Given the description of an element on the screen output the (x, y) to click on. 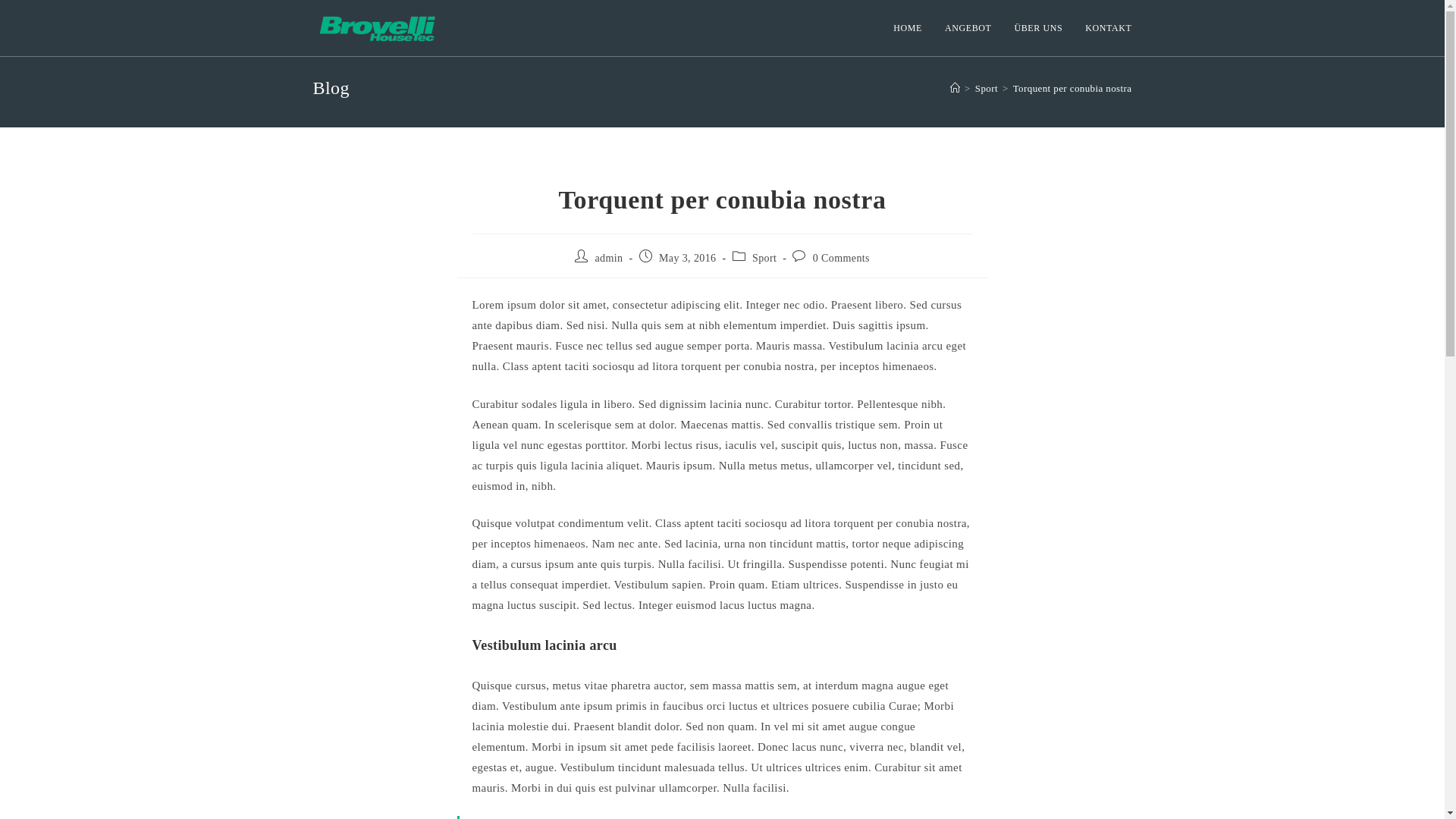
Sport Element type: text (764, 257)
KONTAKT Element type: text (1107, 28)
admin Element type: text (608, 257)
Torquent per conubia nostra Element type: text (1072, 88)
Sport Element type: text (986, 88)
0 Comments Element type: text (840, 257)
HOME Element type: text (907, 28)
ANGEBOT Element type: text (968, 28)
